Given the description of an element on the screen output the (x, y) to click on. 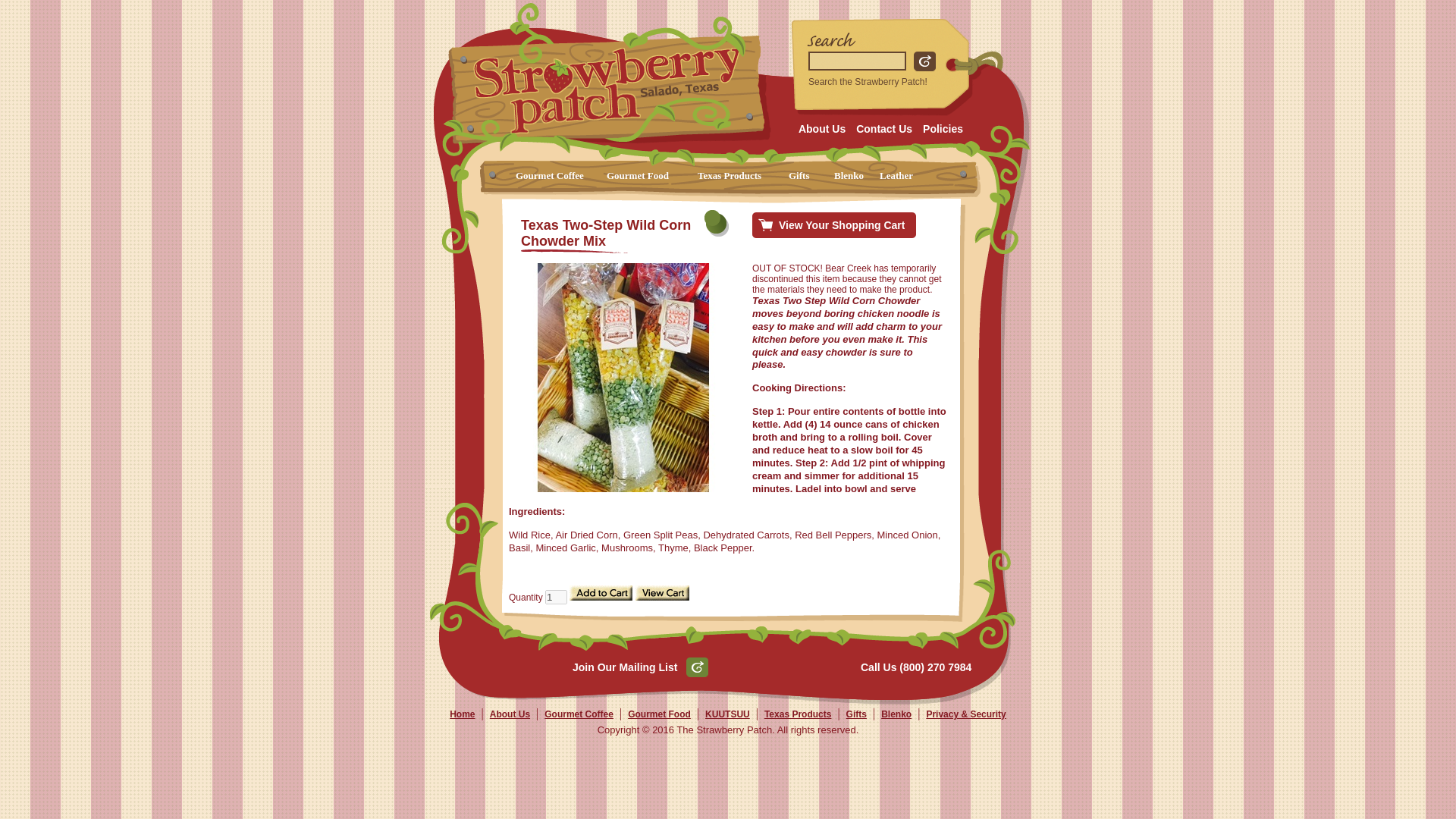
Gourmet Coffee (561, 177)
Gifts (855, 714)
View Your Shopping Cart (841, 224)
1 (555, 596)
Gifts (811, 177)
Blenko (895, 714)
Texas Products (743, 177)
Gourmet Food (658, 714)
About Us (821, 128)
Gourmet Coffee (578, 714)
Gourmet Food (652, 177)
Texas Products (797, 714)
Blenko (856, 177)
KUUTSUU (726, 714)
Policies (942, 128)
